Given the description of an element on the screen output the (x, y) to click on. 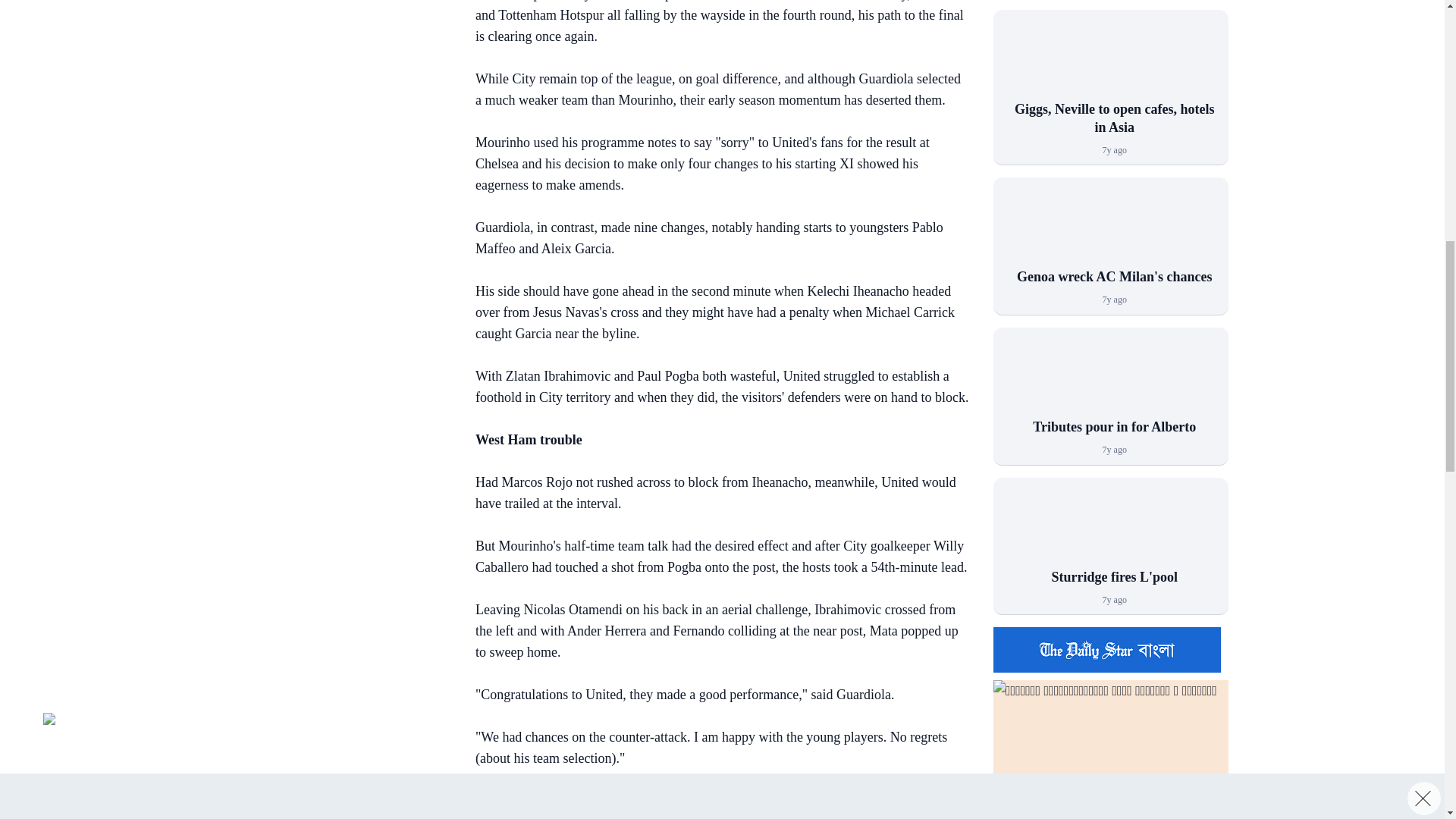
3rd party ad content (332, 116)
Manchester United (1110, 62)
AC Milan (1110, 230)
3rd party ad content (332, 3)
